Given the description of an element on the screen output the (x, y) to click on. 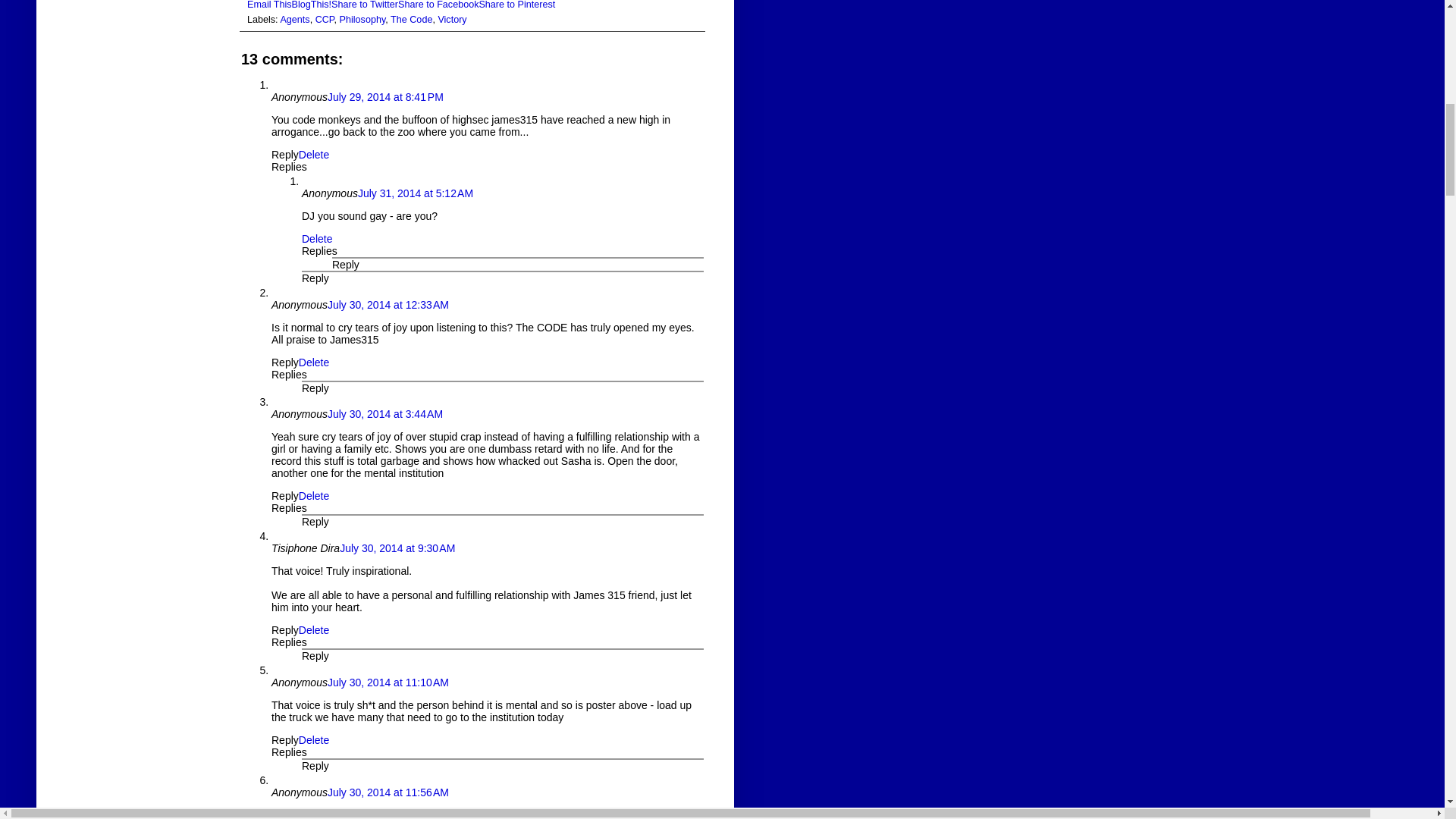
Share to Pinterest (516, 4)
BlogThis! (311, 4)
Share to Twitter (364, 4)
Delete (313, 154)
Share to Twitter (364, 4)
Reply (284, 362)
Reply (284, 154)
Replies (288, 166)
Delete (316, 238)
Reply (315, 277)
Share to Facebook (438, 4)
CCP (324, 19)
Victory (451, 19)
